Given the description of an element on the screen output the (x, y) to click on. 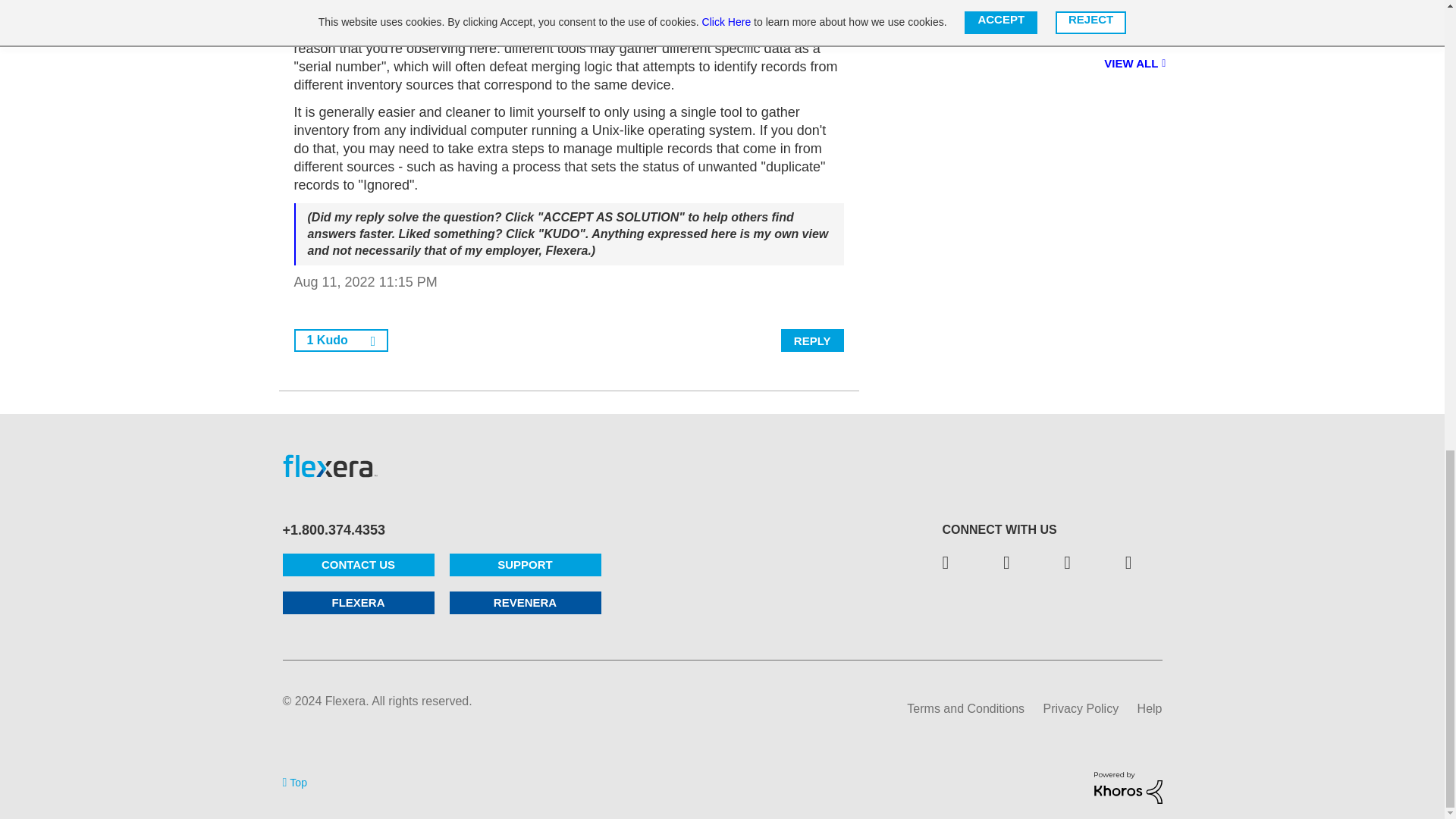
Top (293, 781)
Top (293, 781)
